Given the description of an element on the screen output the (x, y) to click on. 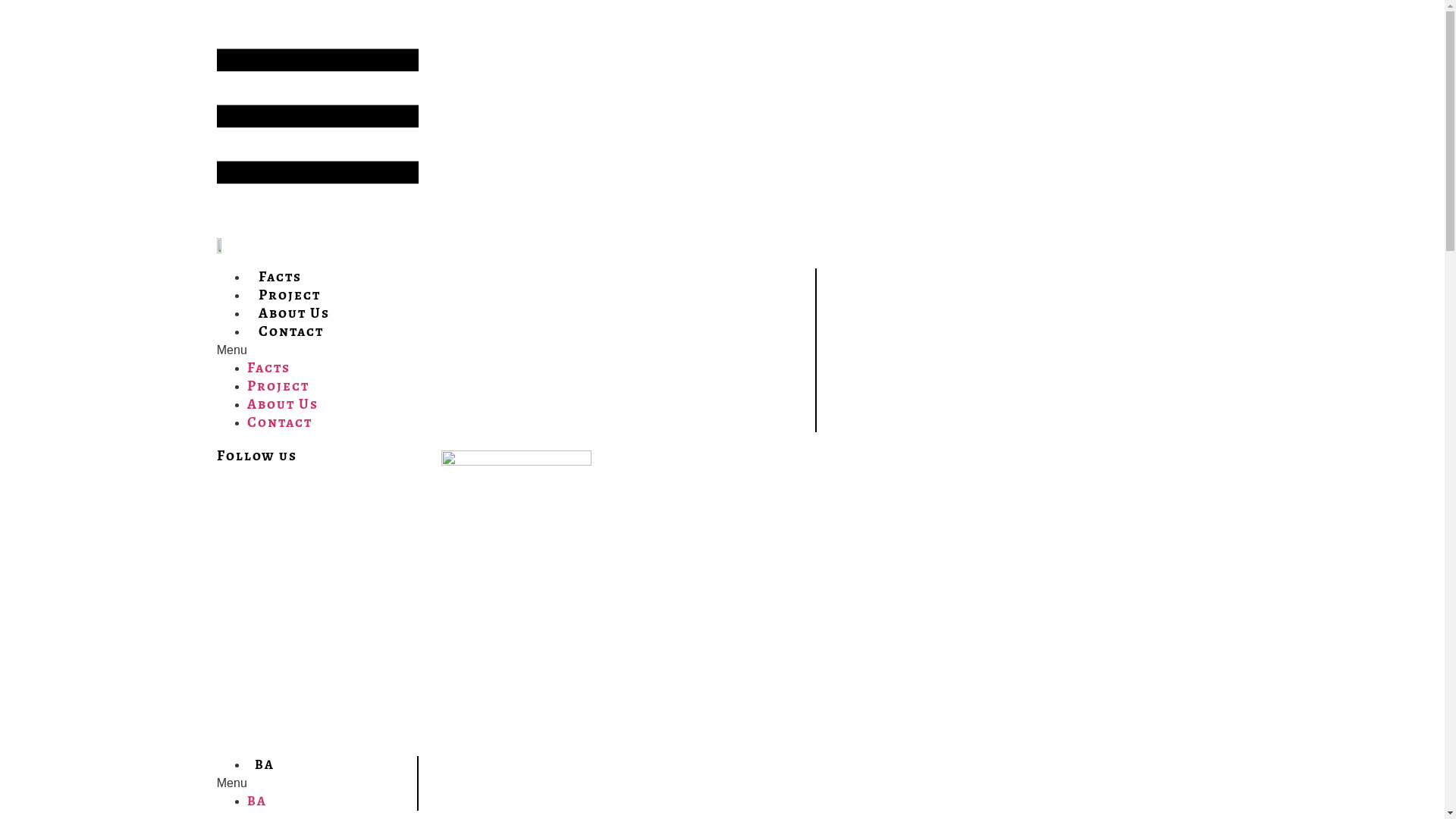
Project Element type: text (278, 385)
BA Element type: text (264, 764)
Project Element type: text (289, 294)
Facts Element type: text (268, 367)
Follow us Element type: text (256, 455)
About Us Element type: text (282, 403)
BA Element type: text (256, 800)
About Us Element type: text (294, 312)
Contact Element type: text (291, 330)
Contact Element type: text (279, 421)
Facts Element type: text (280, 276)
